Given the description of an element on the screen output the (x, y) to click on. 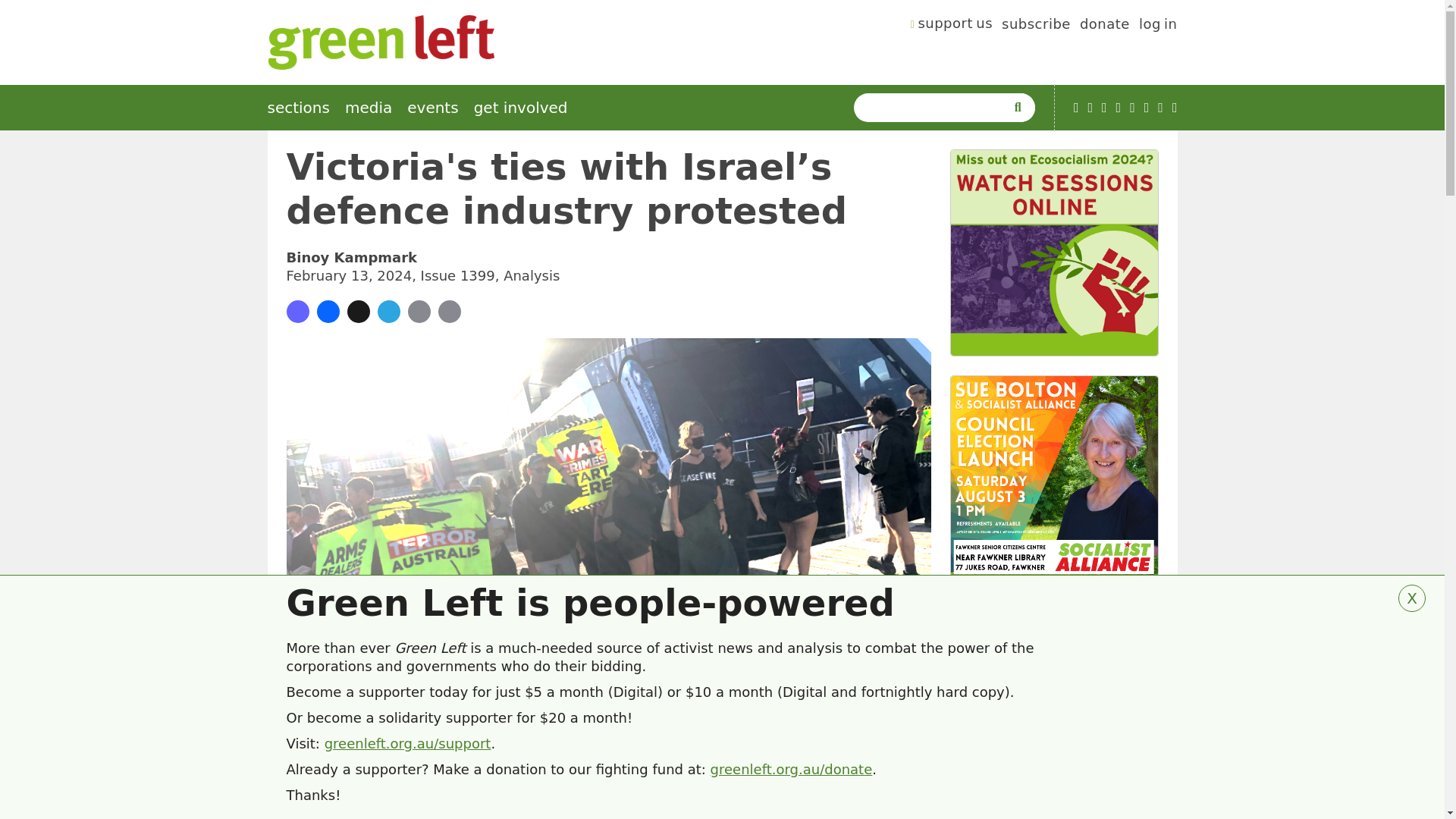
Share on Mastondon (297, 311)
events (432, 107)
share via email (418, 311)
Enter the terms you wish to search for. (932, 107)
support us (951, 26)
Share on Telegram (388, 311)
Print (449, 311)
subscribe (1035, 26)
Share on Facebook (328, 311)
Share on X (358, 311)
log in (1157, 26)
donate (1104, 26)
